Given the description of an element on the screen output the (x, y) to click on. 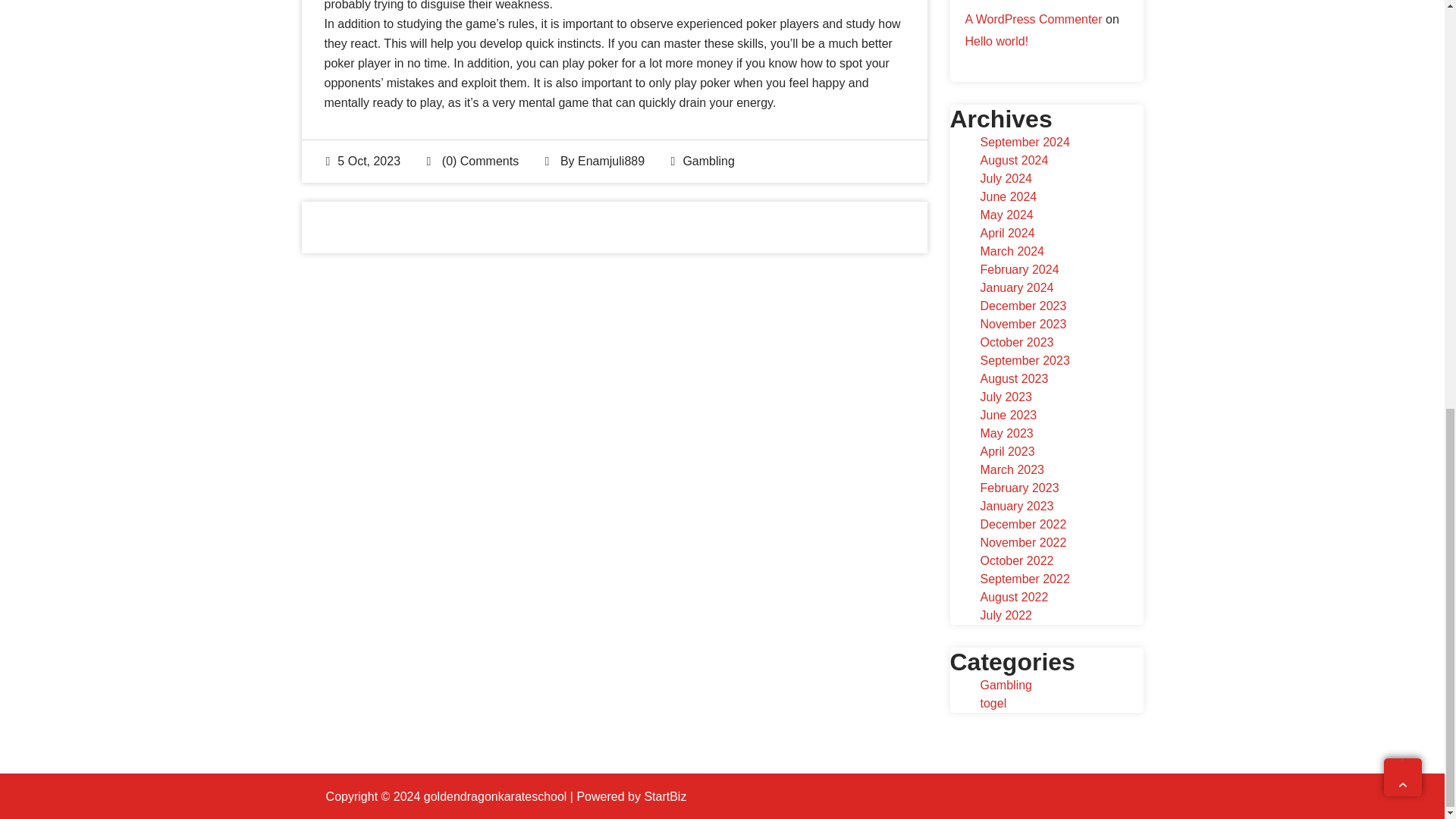
September 2024 (1023, 141)
June 2024 (1007, 196)
August 2023 (1013, 378)
June 2023 (1007, 414)
April 2023 (1006, 451)
Enamjuli889 (611, 160)
March 2024 (1011, 250)
November 2023 (1022, 323)
July 2024 (1005, 178)
Hello world! (995, 41)
